Given the description of an element on the screen output the (x, y) to click on. 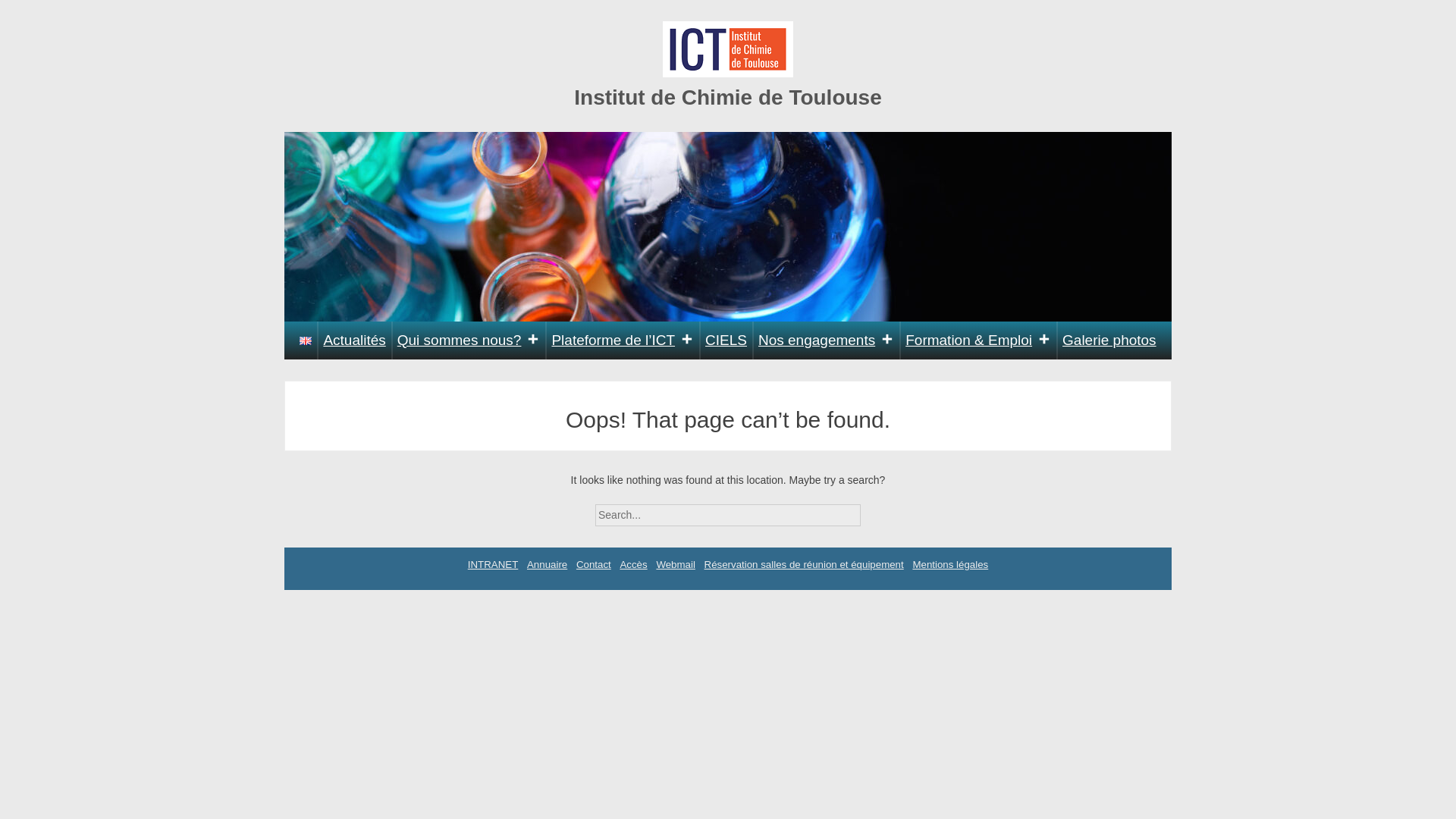
CIELS (726, 340)
Search (873, 509)
Search (873, 509)
Qui sommes nous? (468, 340)
Institut de Chimie de Toulouse (727, 97)
Nos engagements (825, 340)
